Given the description of an element on the screen output the (x, y) to click on. 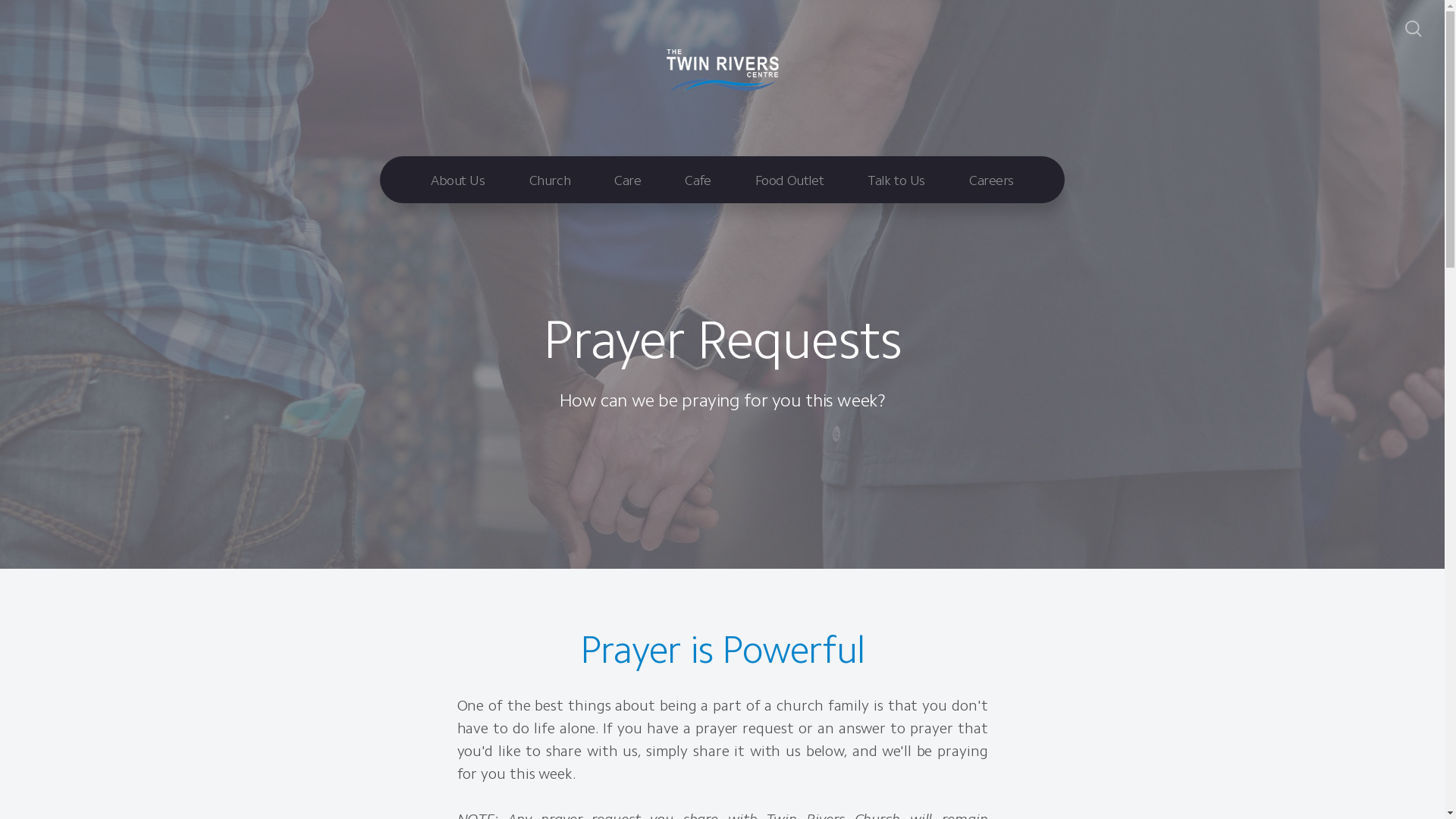
About Us Element type: text (457, 179)
Church Element type: text (549, 179)
Careers Element type: text (991, 179)
Food Outlet Element type: text (789, 179)
Talk to Us Element type: text (896, 179)
Care Element type: text (627, 179)
Cafe Element type: text (697, 179)
